Given the description of an element on the screen output the (x, y) to click on. 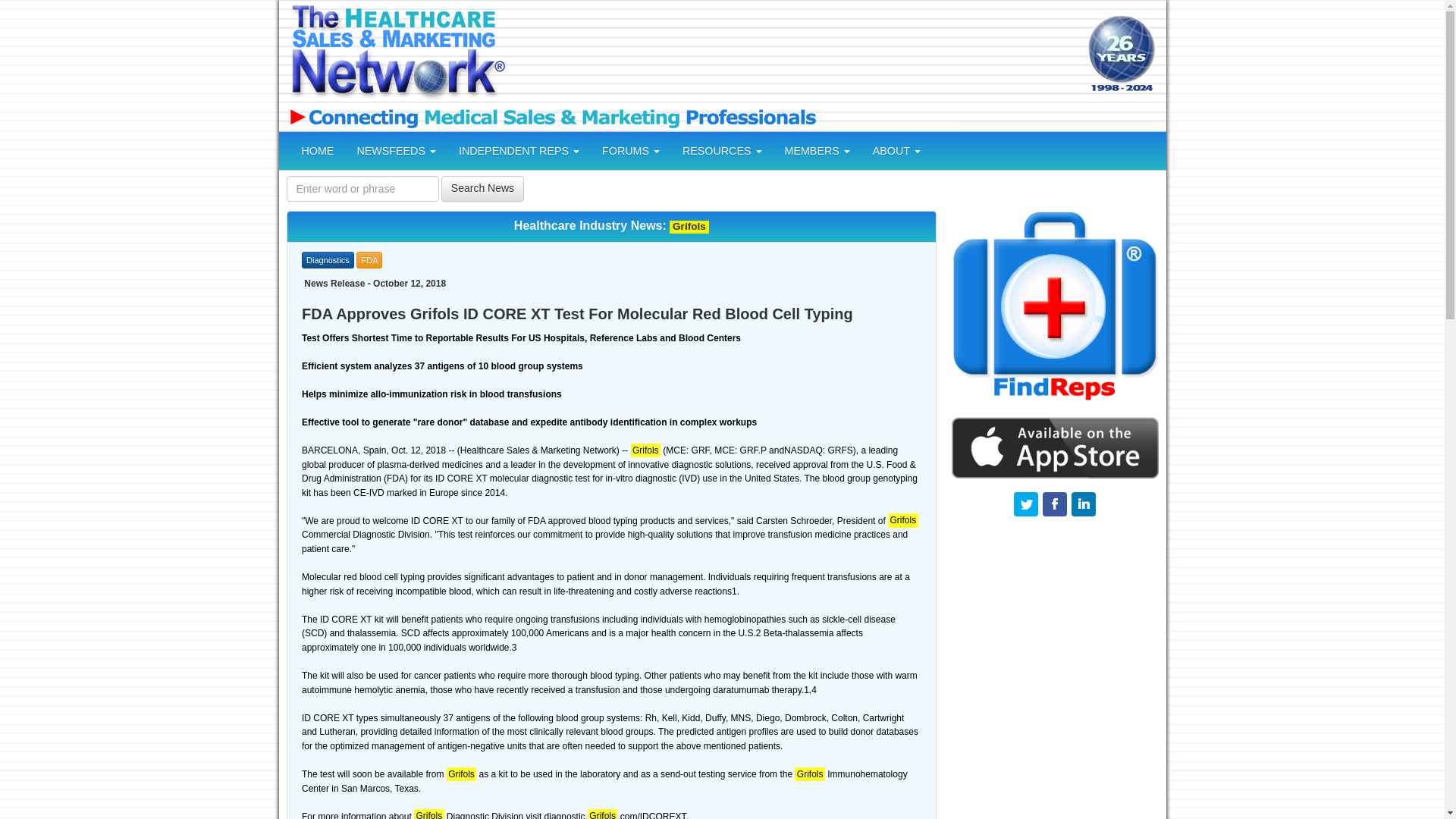
INDEPENDENT REPS  (518, 150)
FORUMS  (631, 150)
NEWSFEEDS  (395, 150)
Advertisement (794, 55)
Search News (482, 188)
RESOURCES  (722, 150)
HOME (317, 150)
